Given the description of an element on the screen output the (x, y) to click on. 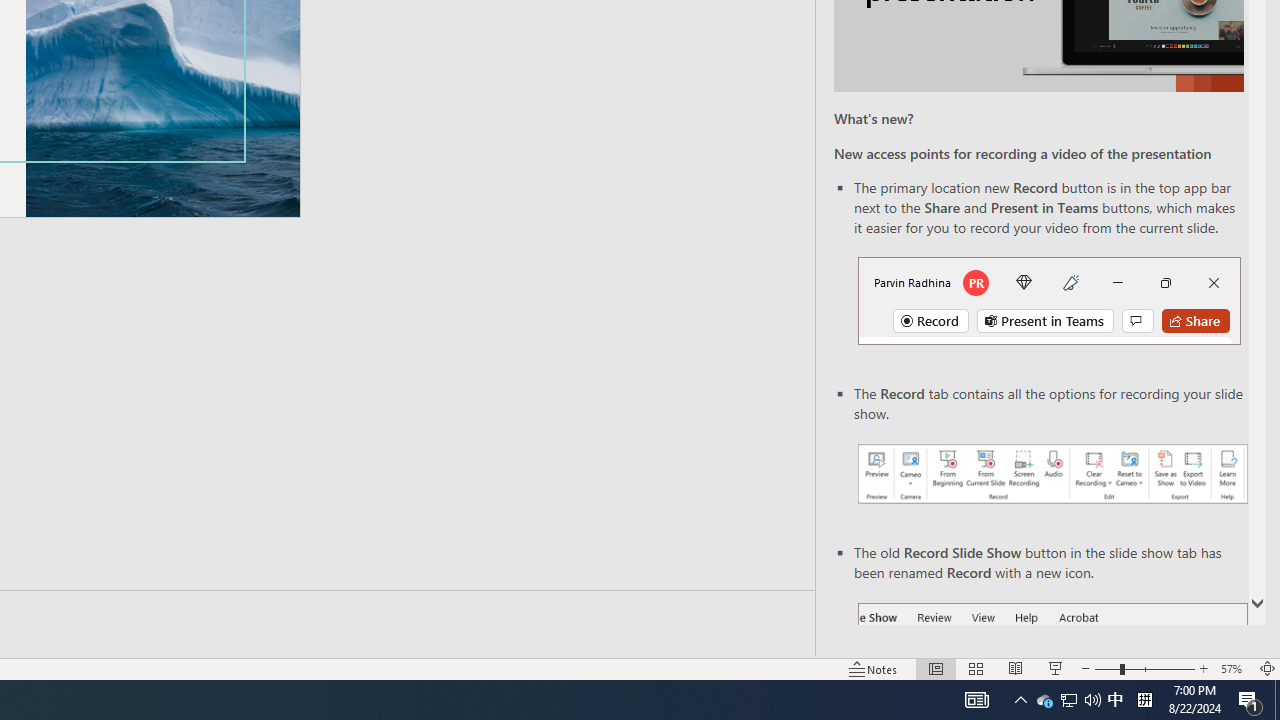
Record button in top bar (1049, 300)
Zoom 57% (1234, 668)
Record your presentations screenshot one (1052, 473)
